Given the description of an element on the screen output the (x, y) to click on. 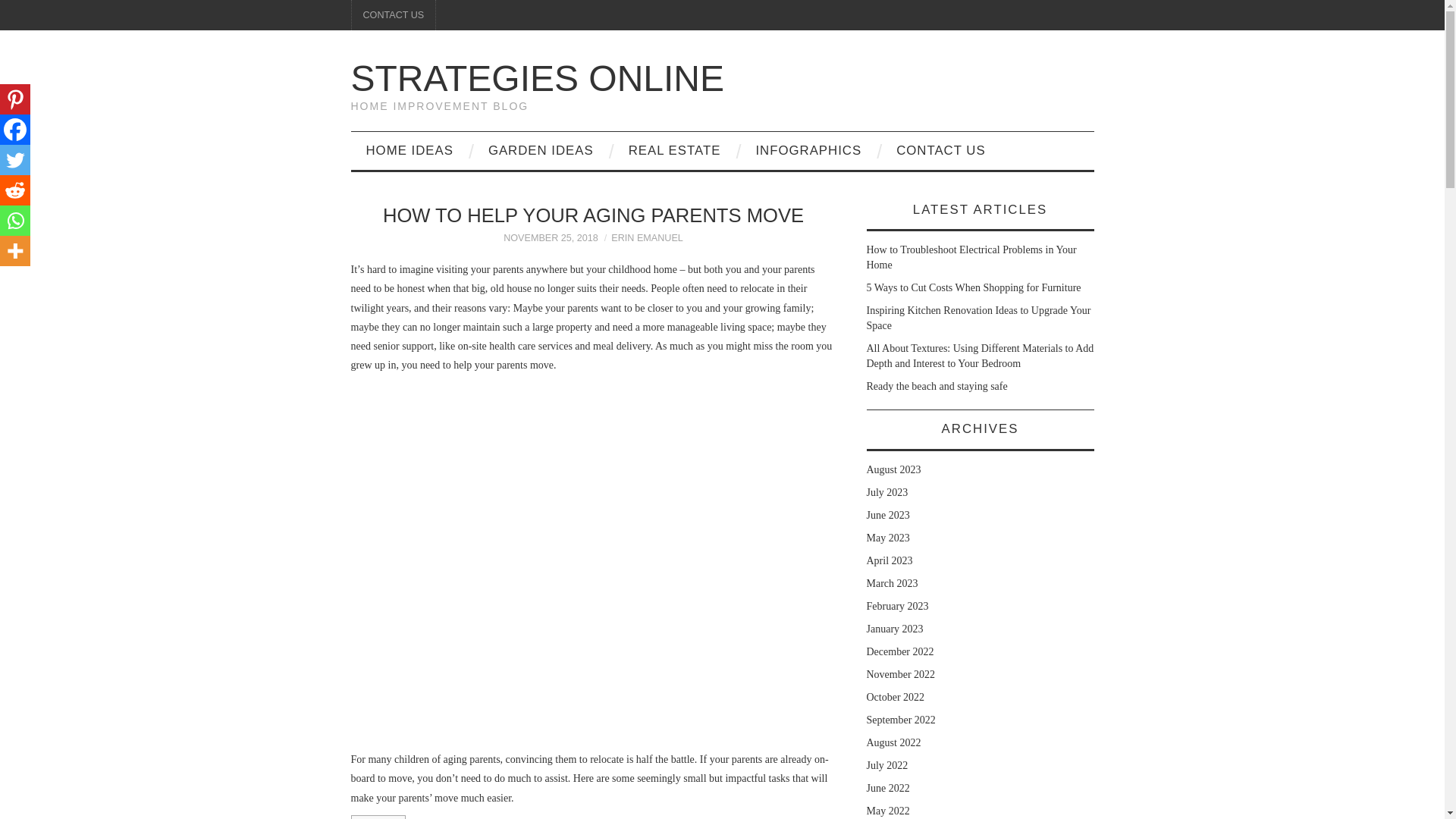
More (15, 250)
ERIN EMANUEL (646, 237)
NOVEMBER 25, 2018 (550, 237)
Strategies Online (536, 78)
CONTACT US (393, 15)
HOME IDEAS (408, 150)
STRATEGIES ONLINE (536, 78)
INFOGRAPHICS (807, 150)
CONTACT US (940, 150)
Twitter (15, 159)
GARDEN IDEAS (540, 150)
Facebook (15, 129)
Reddit (15, 190)
Pinterest (15, 99)
Whatsapp (15, 220)
